Given the description of an element on the screen output the (x, y) to click on. 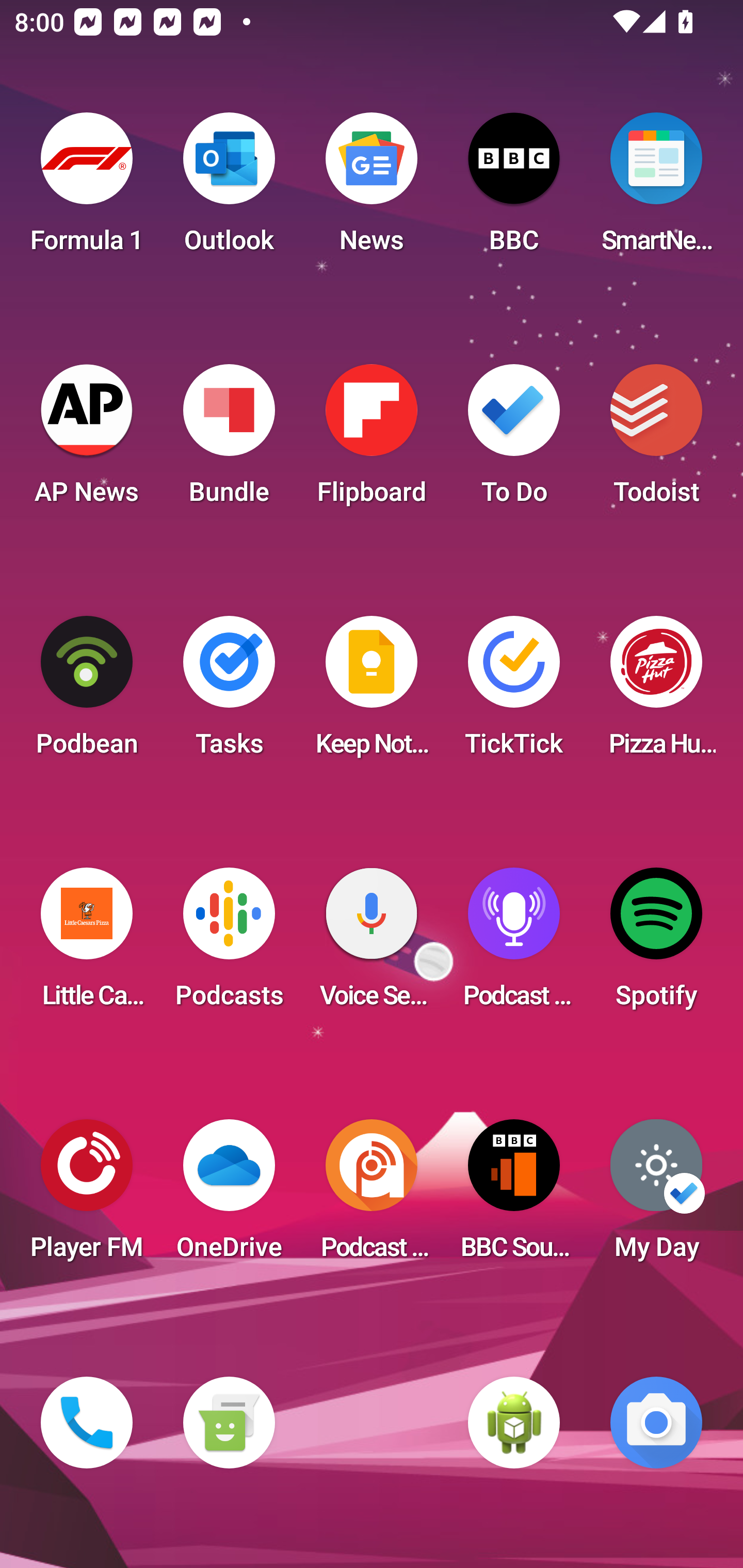
Formula 1 (86, 188)
Outlook (228, 188)
News (371, 188)
BBC (513, 188)
SmartNews (656, 188)
AP News (86, 440)
Bundle (228, 440)
Flipboard (371, 440)
To Do (513, 440)
Todoist (656, 440)
Podbean (86, 692)
Tasks (228, 692)
Keep Notes (371, 692)
TickTick (513, 692)
Pizza Hut HK & Macau (656, 692)
Little Caesars Pizza (86, 943)
Podcasts (228, 943)
Voice Search (371, 943)
Podcast Player (513, 943)
Spotify (656, 943)
Player FM (86, 1195)
OneDrive (228, 1195)
Podcast Addict (371, 1195)
BBC Sounds (513, 1195)
My Day (656, 1195)
Phone (86, 1422)
Messaging (228, 1422)
WebView Browser Tester (513, 1422)
Camera (656, 1422)
